Given the description of an element on the screen output the (x, y) to click on. 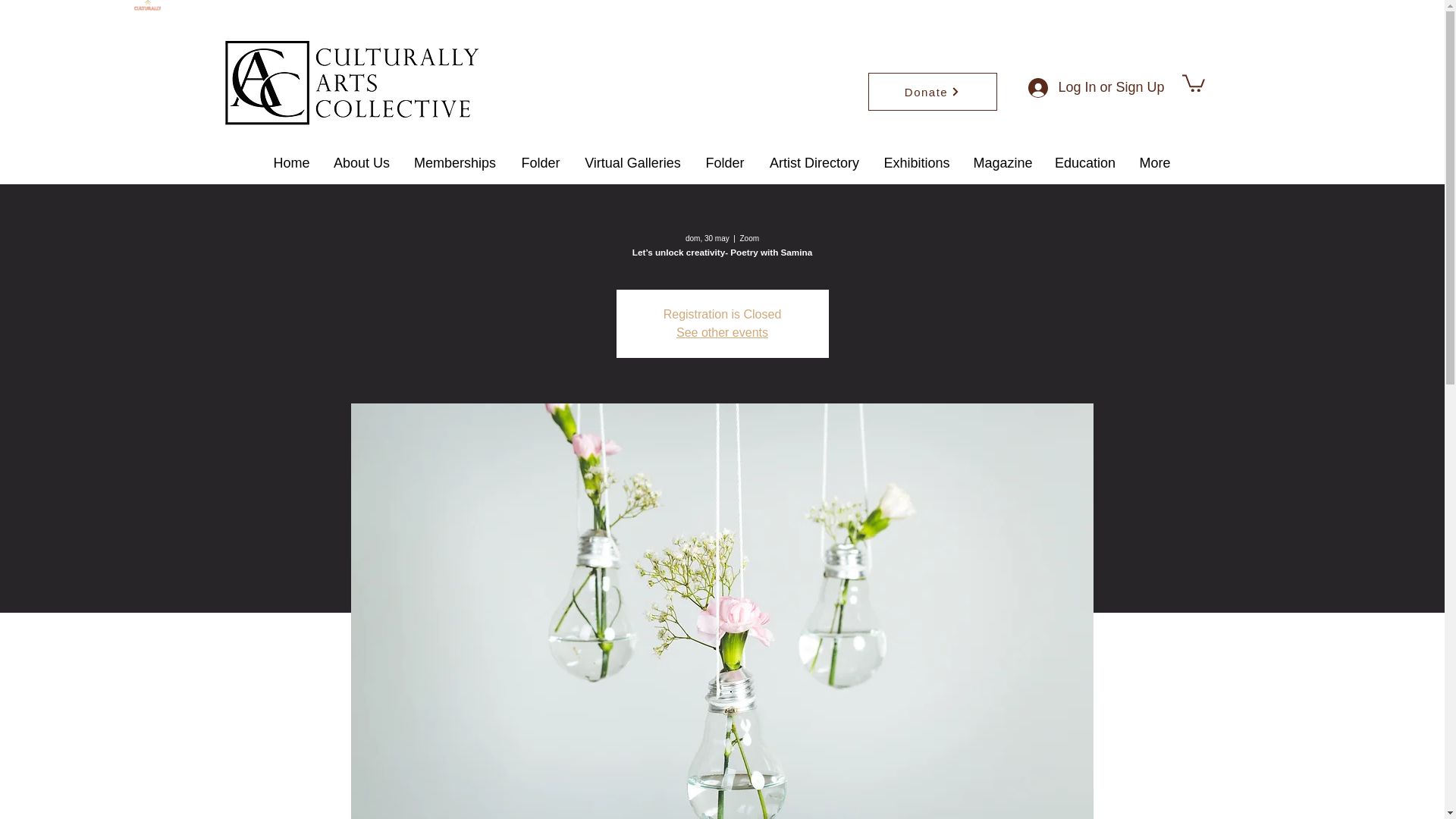
Home (290, 163)
Donate (931, 91)
Memberships (454, 163)
Education (1084, 163)
See other events (722, 332)
About Us (361, 163)
Log In or Sign Up (1092, 87)
Exhibitions (917, 163)
Artist Directory (813, 163)
Magazine (1001, 163)
